Given the description of an element on the screen output the (x, y) to click on. 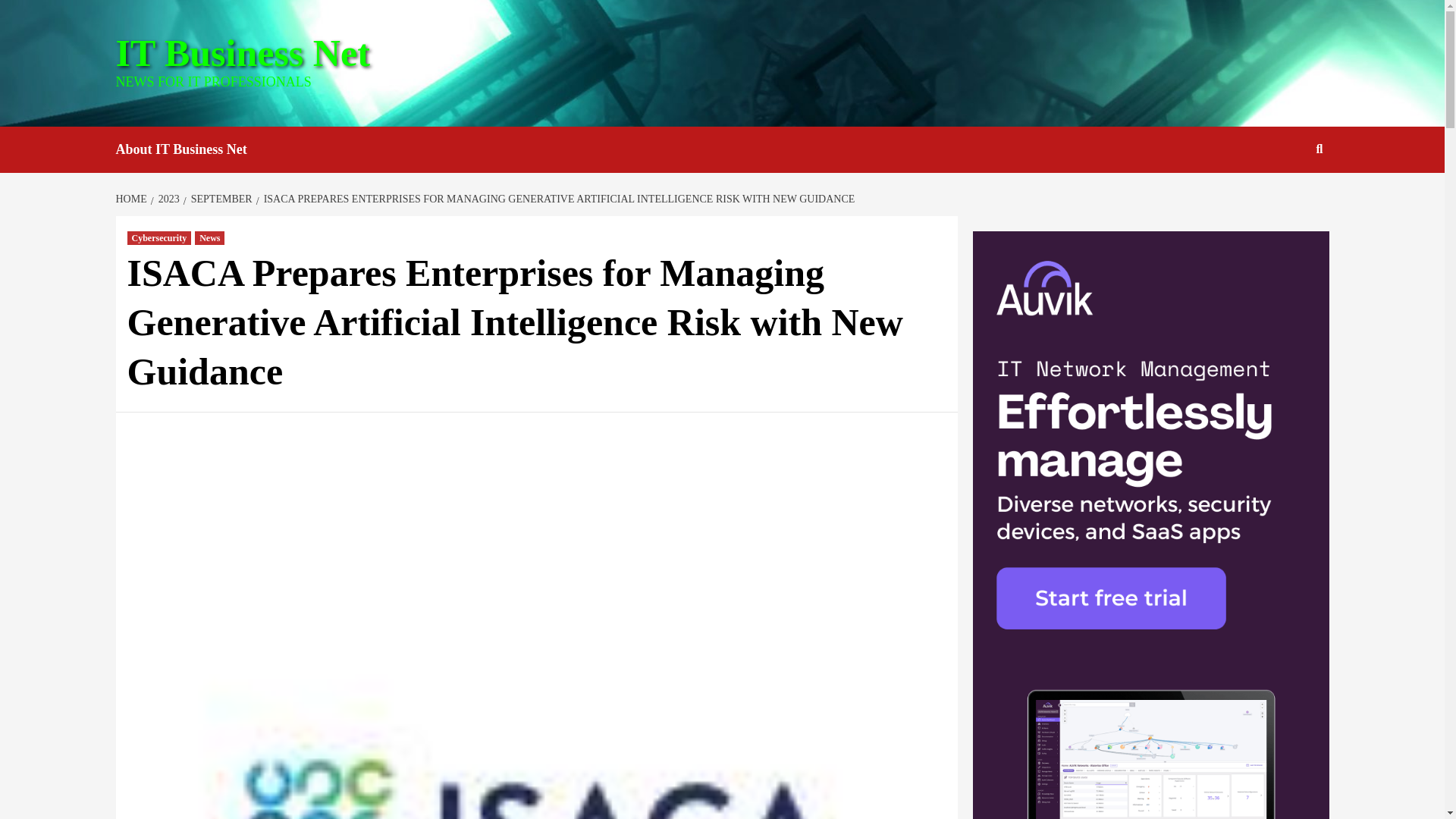
IT Business Net (242, 52)
2023 (167, 198)
HOME (132, 198)
SEPTEMBER (219, 198)
About IT Business Net (192, 149)
Search (1283, 197)
News (209, 237)
Cybersecurity (160, 237)
